Given the description of an element on the screen output the (x, y) to click on. 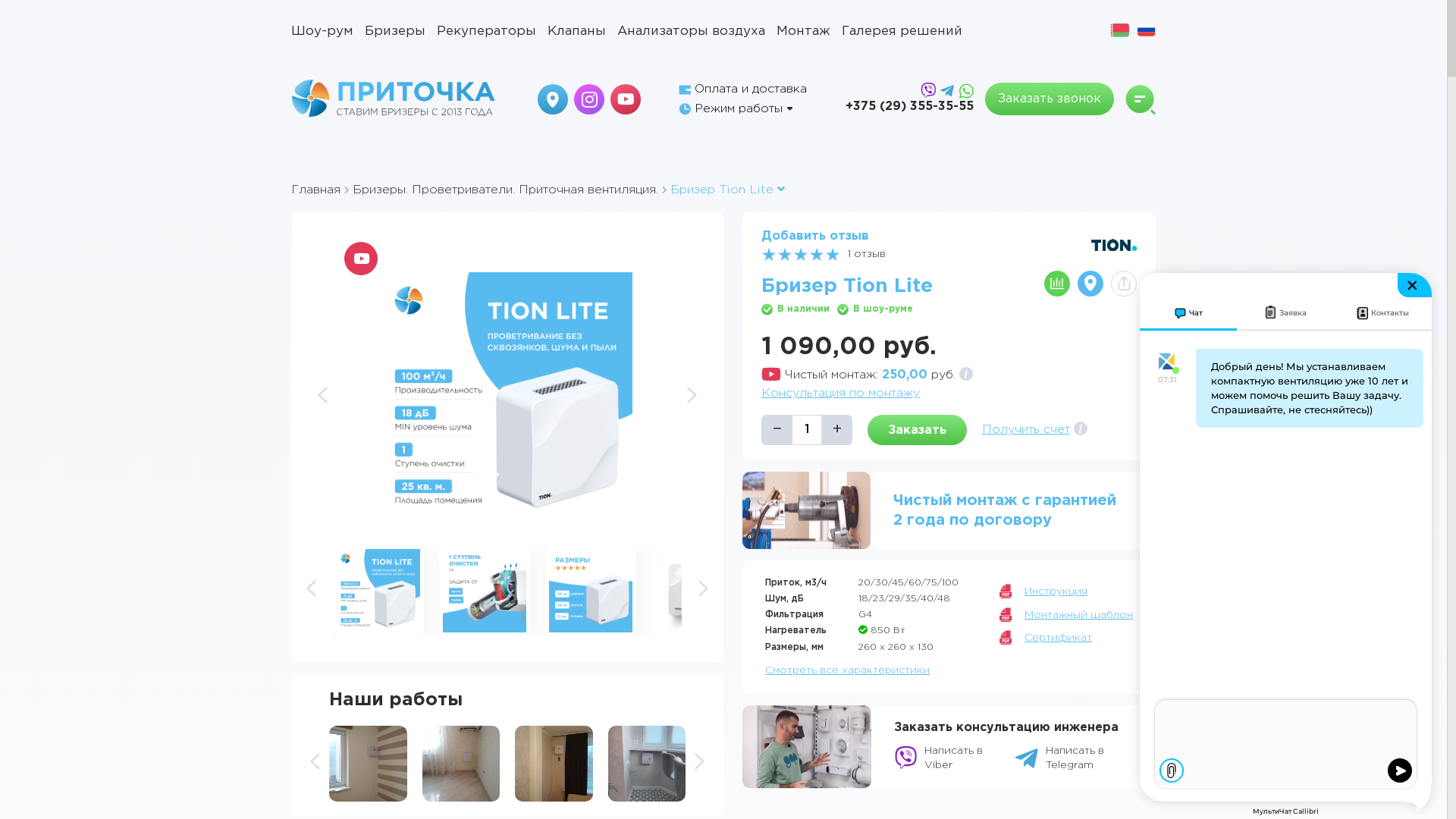
+ Element type: text (837, 429)
+375 (29) 355-35-55 Element type: text (909, 106)
